Given the description of an element on the screen output the (x, y) to click on. 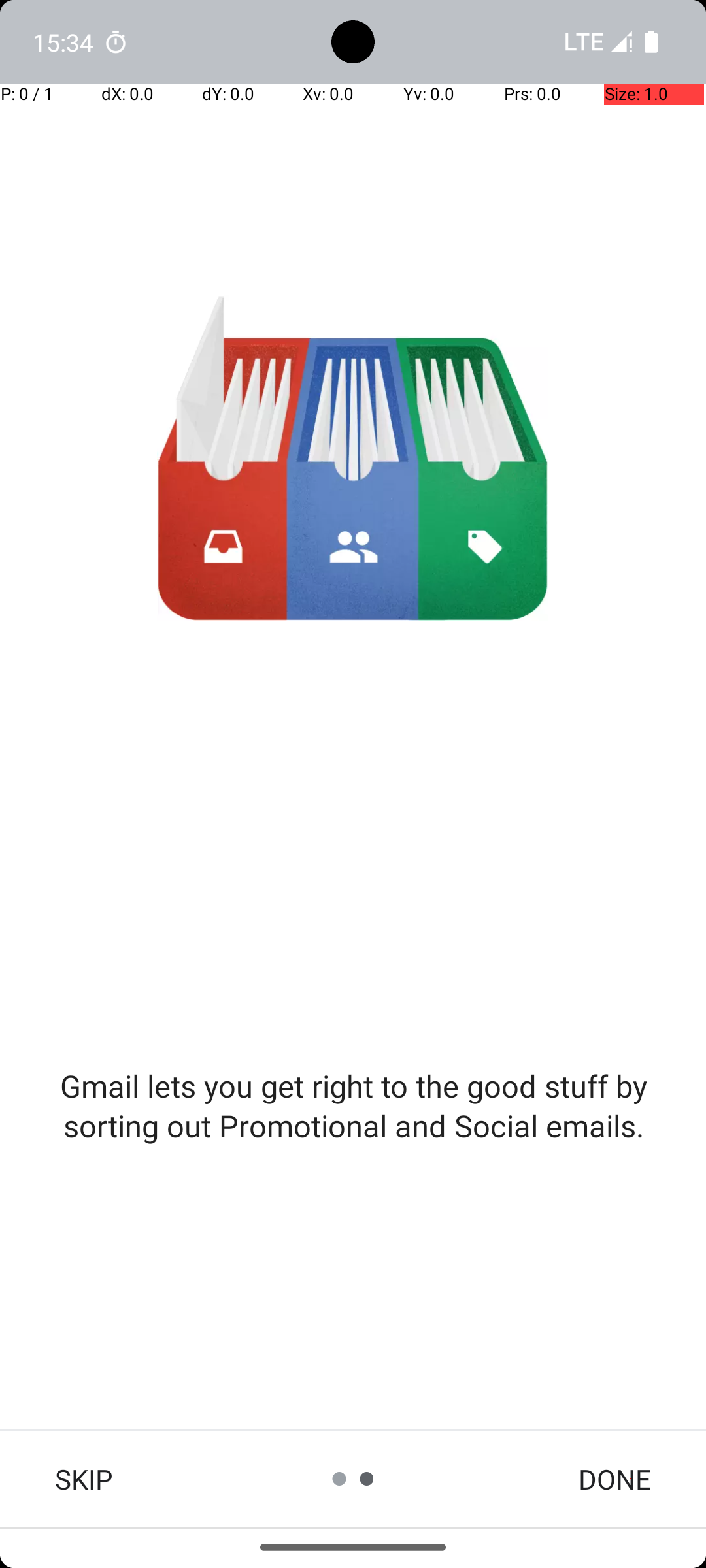
SKIP Element type: android.widget.TextView (83, 1478)
DONE Element type: android.widget.TextView (614, 1478)
Gmail lets you get right to the good stuff by sorting out Promotional and Social emails. Element type: android.widget.TextView (352, 1105)
